Given the description of an element on the screen output the (x, y) to click on. 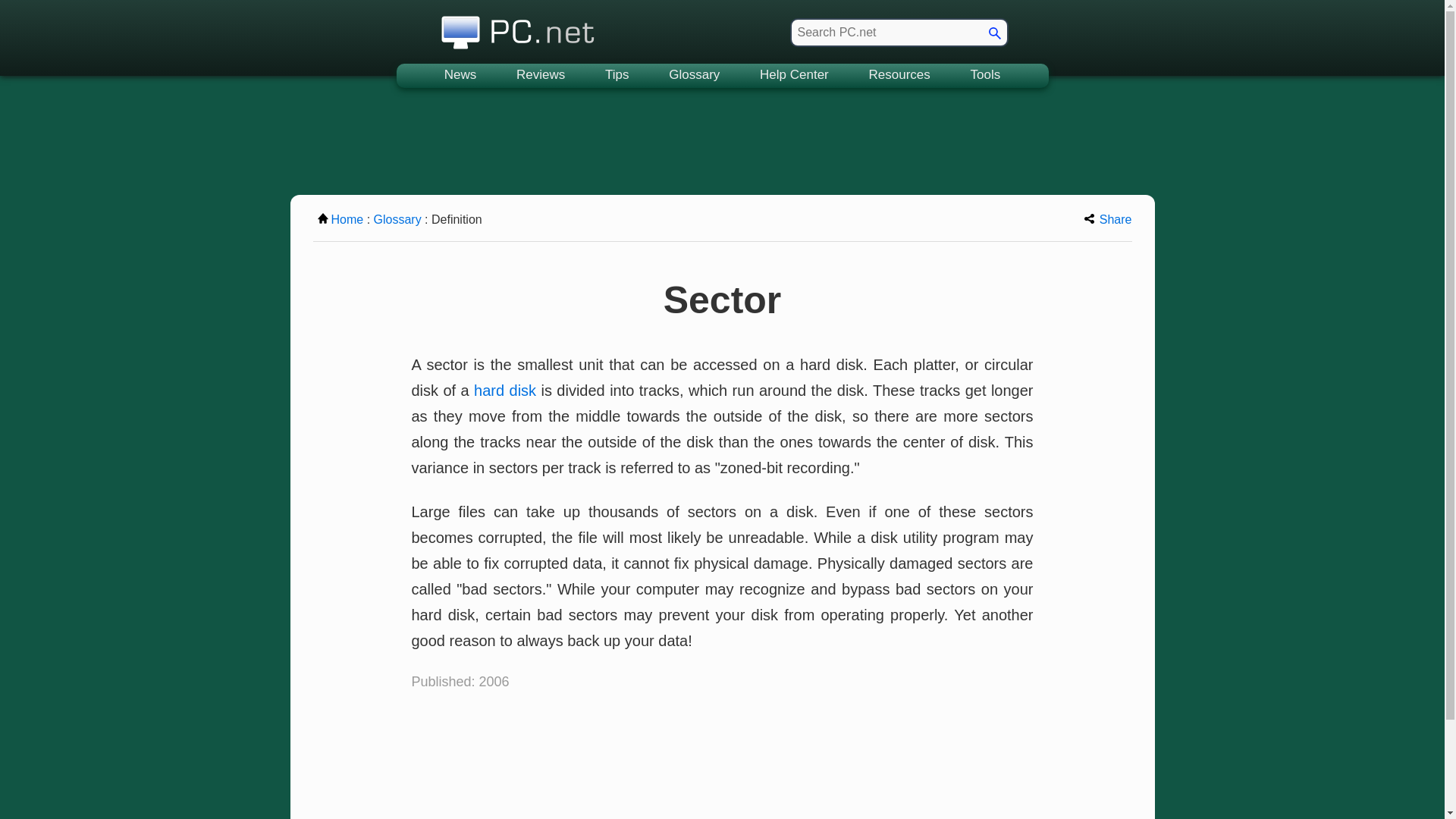
Resources (899, 75)
Glossary (694, 75)
Reviews (540, 75)
News (460, 75)
Home (340, 219)
Share (1108, 219)
Glossary (398, 219)
Help Center (794, 75)
Tools (985, 75)
PC.net (517, 28)
